Given the description of an element on the screen output the (x, y) to click on. 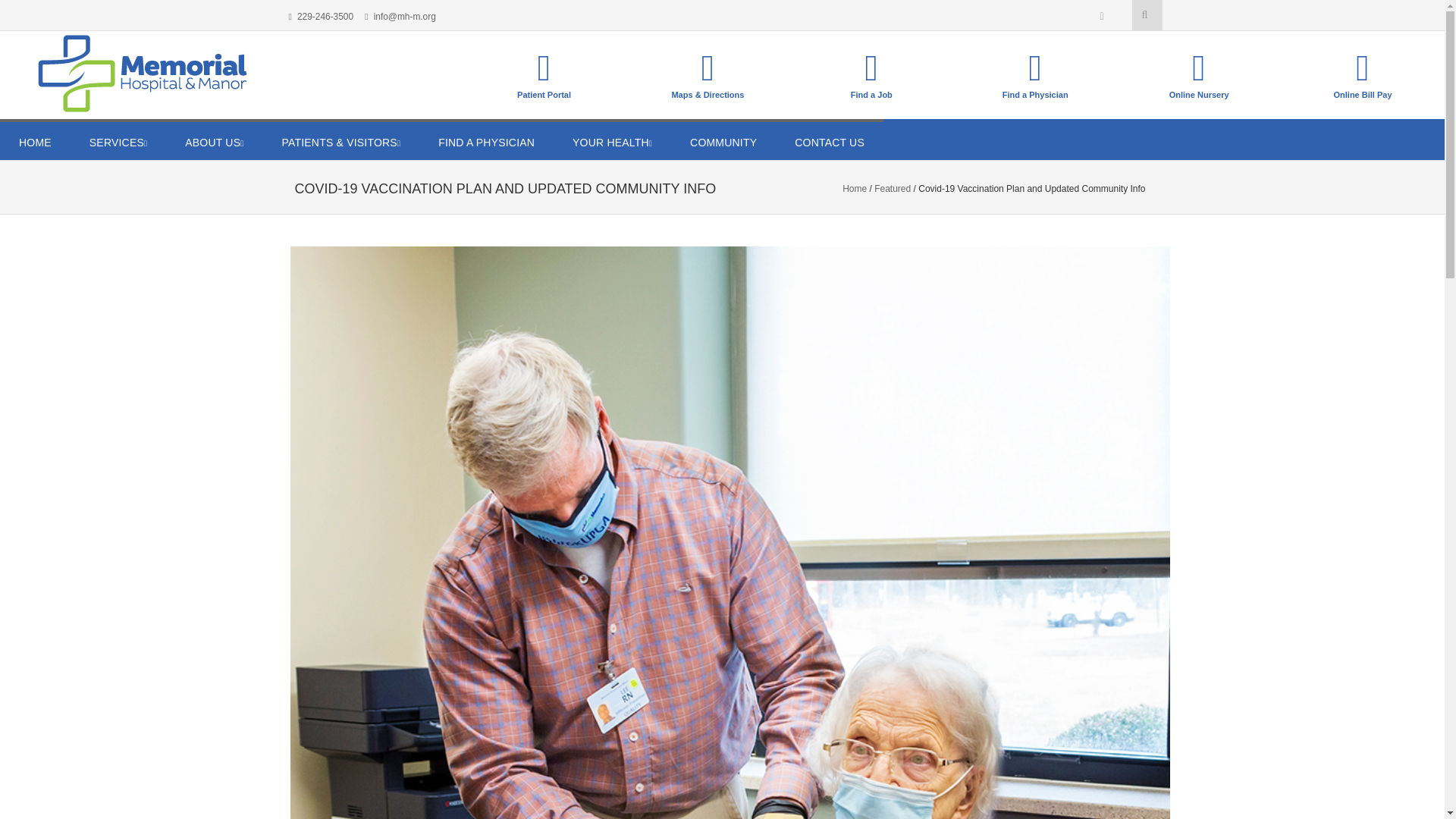
Patient Portal (544, 67)
Search (1170, 39)
Find a Physician (1034, 67)
SERVICES (117, 138)
SKIP TO CONTENT (67, 138)
Online Bill Pay (1362, 67)
Find a Physician (1034, 72)
Find a Job (871, 67)
Find a Job (871, 72)
ABOUT US (213, 138)
Skip to content (67, 138)
Patient Portal (544, 72)
Online Nursery (1198, 67)
HOME (34, 138)
Online Nursery (1198, 72)
